Given the description of an element on the screen output the (x, y) to click on. 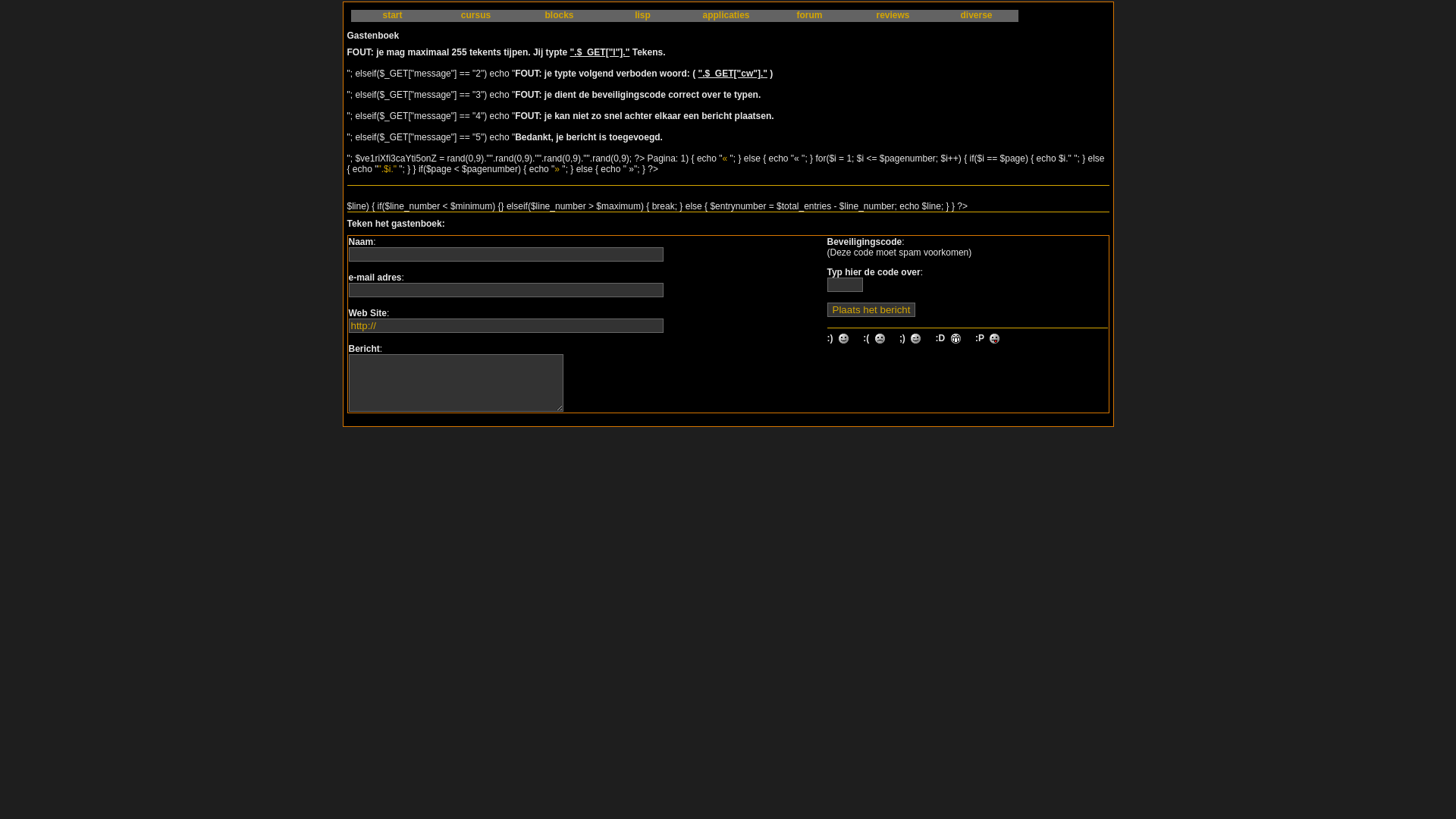
blocks Element type: text (558, 15)
reviews Element type: text (892, 15)
lisp Element type: text (642, 15)
".$i." Element type: text (386, 168)
start Element type: text (391, 15)
forum Element type: text (808, 15)
cursus Element type: text (475, 15)
applicaties Element type: text (725, 15)
:P Element type: hover (998, 338)
Plaats het bericht Element type: text (870, 309)
;) Element type: hover (919, 338)
:) Element type: hover (847, 338)
:( Element type: hover (884, 338)
:D Element type: hover (959, 338)
diverse Element type: text (975, 15)
